Given the description of an element on the screen output the (x, y) to click on. 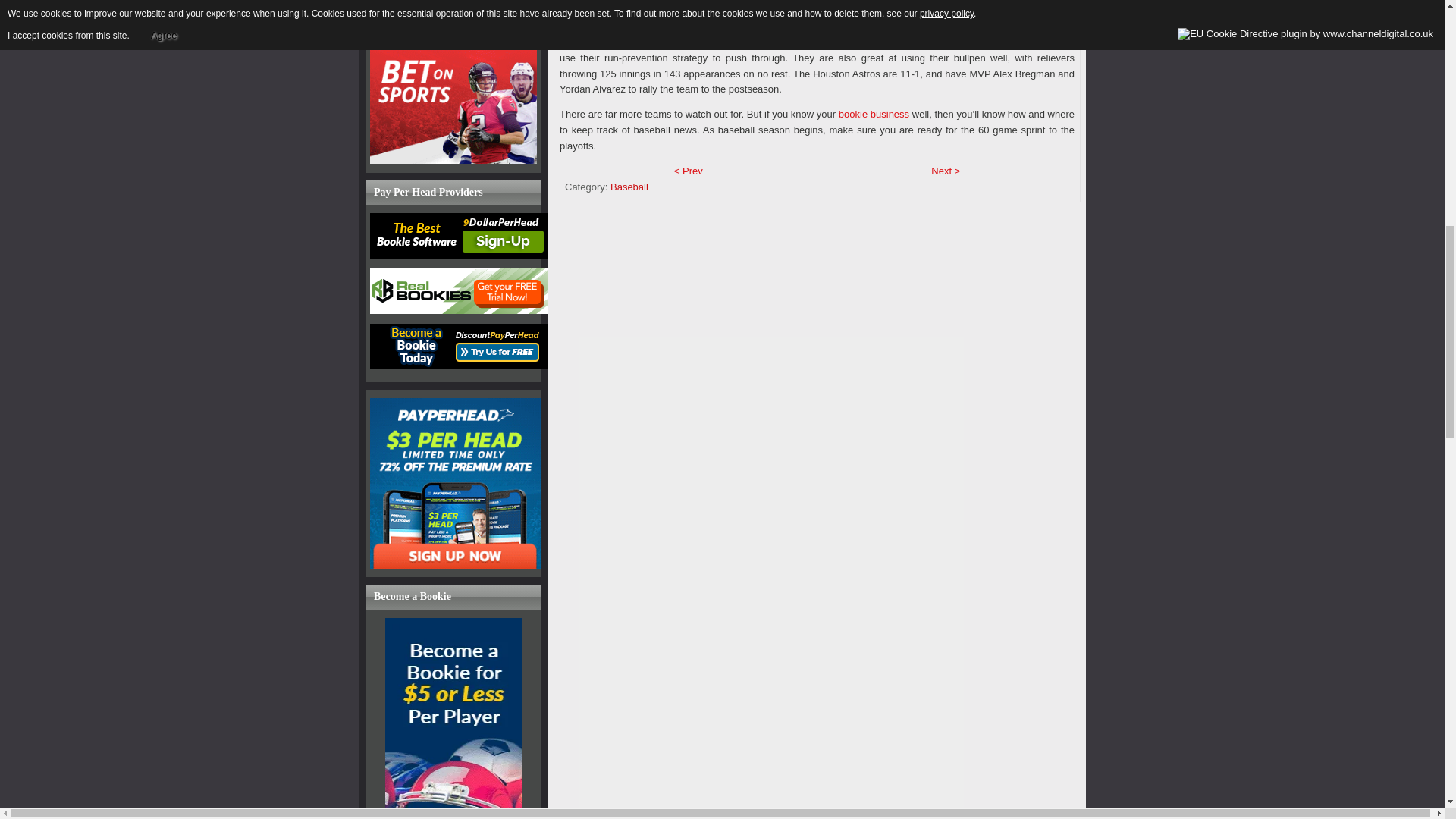
Real Bookies Pay Per Head (458, 290)
Become a Bookie with Discount Pay Per Head (458, 346)
betonline 250x250 (453, 160)
9DollarPerHead Pay Per HEad (458, 255)
RealBookies.com Pay Per Head (458, 310)
Become a Bookie with Discount Pay Per Head (458, 365)
